Given the description of an element on the screen output the (x, y) to click on. 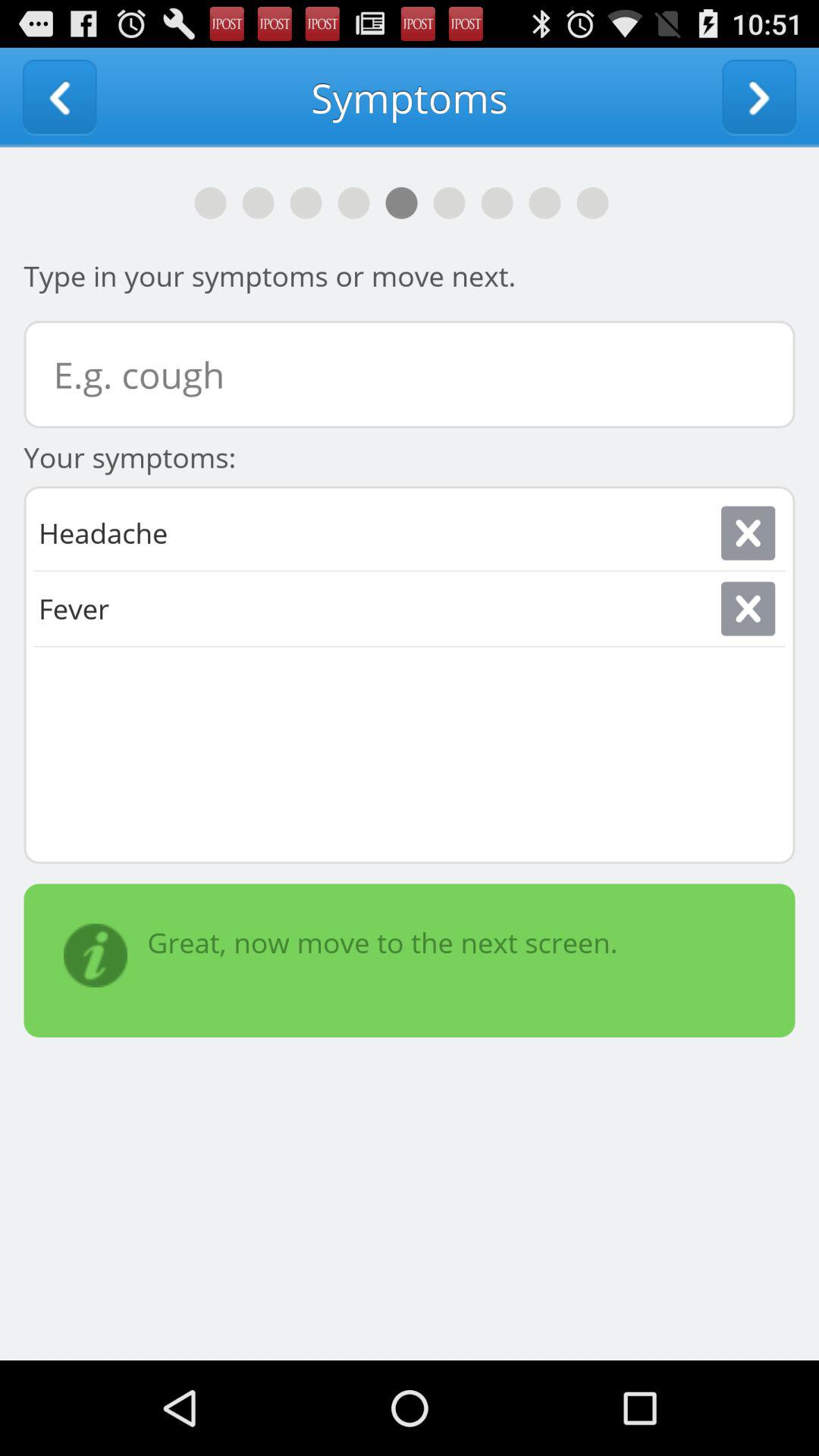
next screen (759, 97)
